Given the description of an element on the screen output the (x, y) to click on. 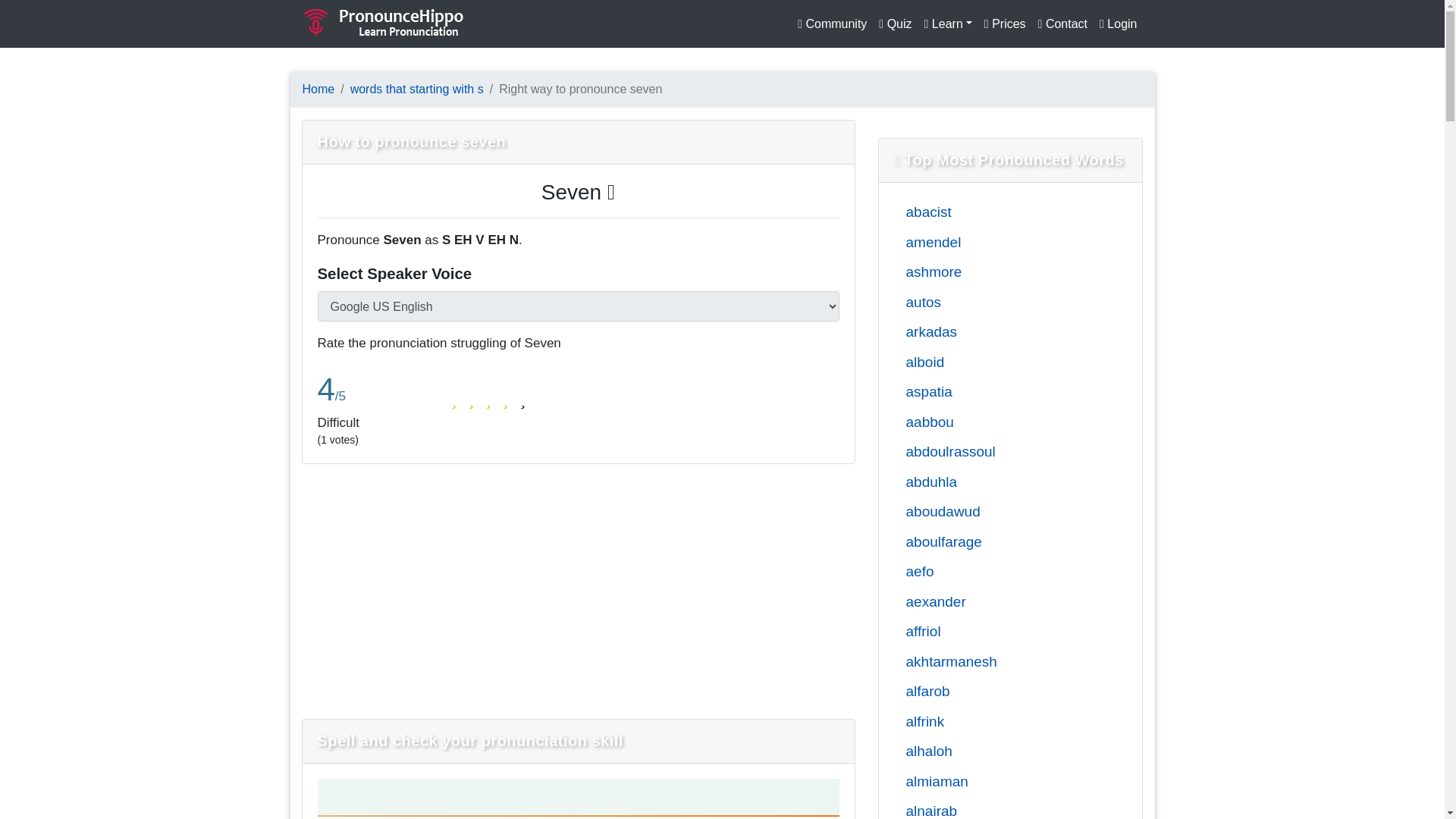
Moderate (488, 399)
Learn (948, 24)
Advertisement (722, 588)
Easy (505, 399)
Pronounce words that starting with s (416, 89)
PronounceHippo.Com (384, 23)
Difficult (470, 399)
Quiz (894, 24)
Advertisement (434, 588)
Home (317, 89)
Contact (1062, 24)
Community (832, 24)
Very difficult (453, 399)
Prices (1005, 24)
words that starting with s (416, 89)
